Given the description of an element on the screen output the (x, y) to click on. 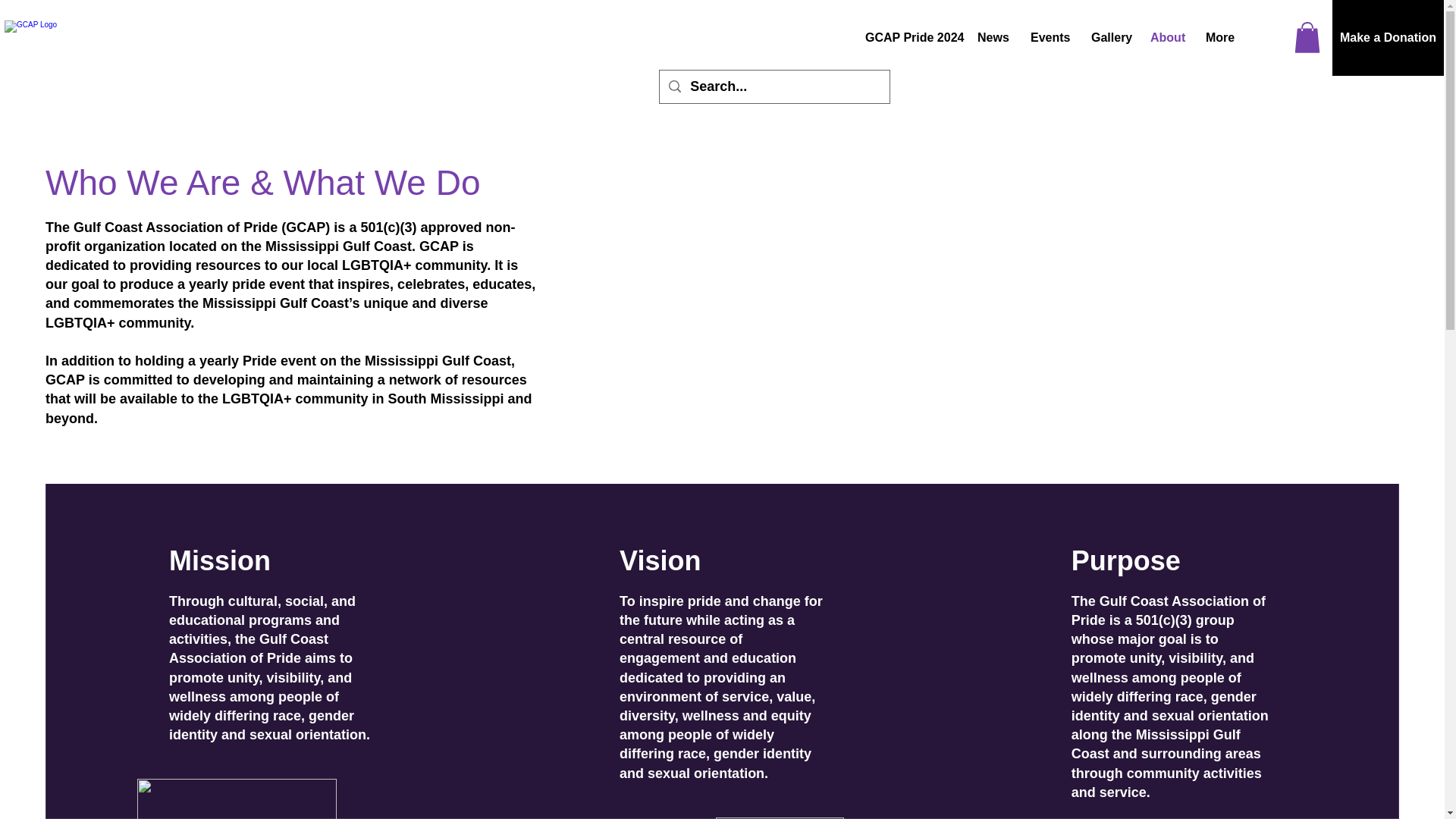
Events (1049, 37)
About (1165, 37)
Gallery (1109, 37)
GCAP Pride 2024 (909, 37)
Make a Donation (1388, 38)
News (992, 37)
